Given the description of an element on the screen output the (x, y) to click on. 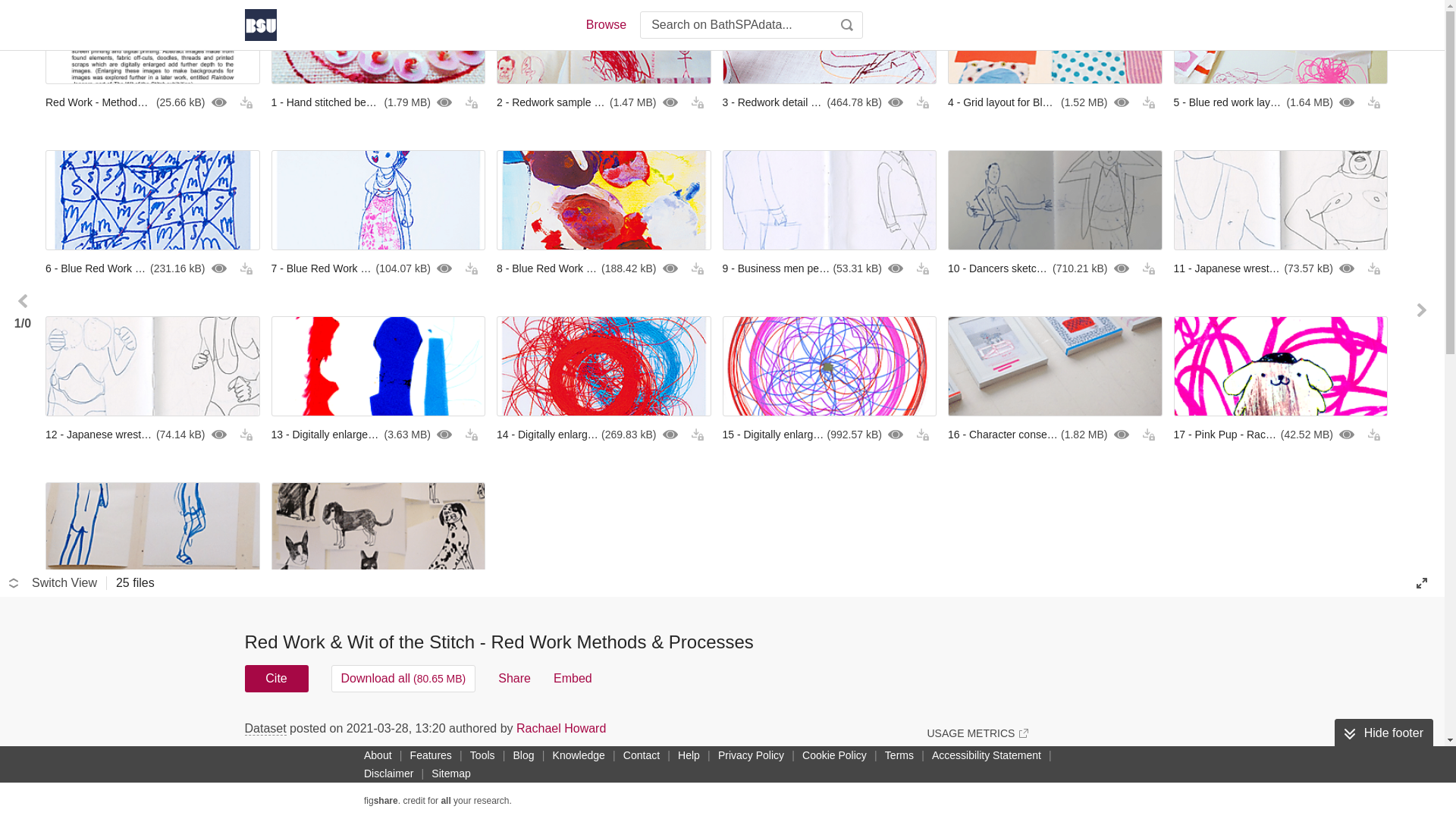
14 - Digitally enlarged thread off cuts - Rachael Howard.jpg (603, 433)
2 - Redwork sample print - Rachael Howard.JPG (603, 101)
3 - Redwork detail trumpeter - Rachael Howard.jpg (829, 101)
5 - Blue red work layout - Rachael Howard.JPG (1281, 101)
10 - Dancers sketches..png (1054, 267)
Red Work - Methods and Processes.pdf (152, 101)
